Given the description of an element on the screen output the (x, y) to click on. 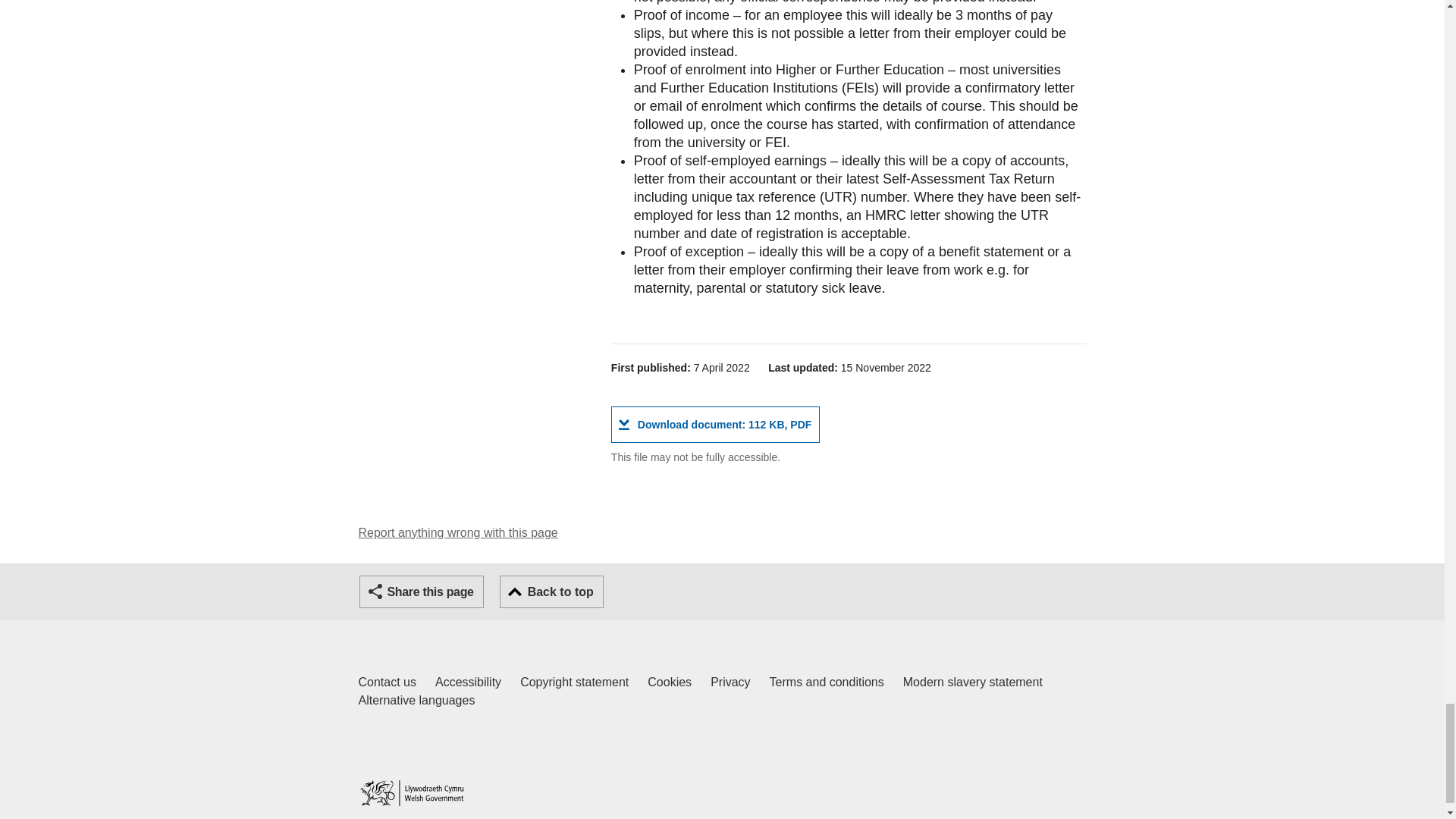
Accessibility (467, 682)
Cookies (669, 682)
Back to top (551, 591)
Share this page (421, 591)
Report anything wrong with this page (715, 424)
Terms and conditions (457, 532)
Privacy (826, 682)
Copyright statement (386, 682)
